Given the description of an element on the screen output the (x, y) to click on. 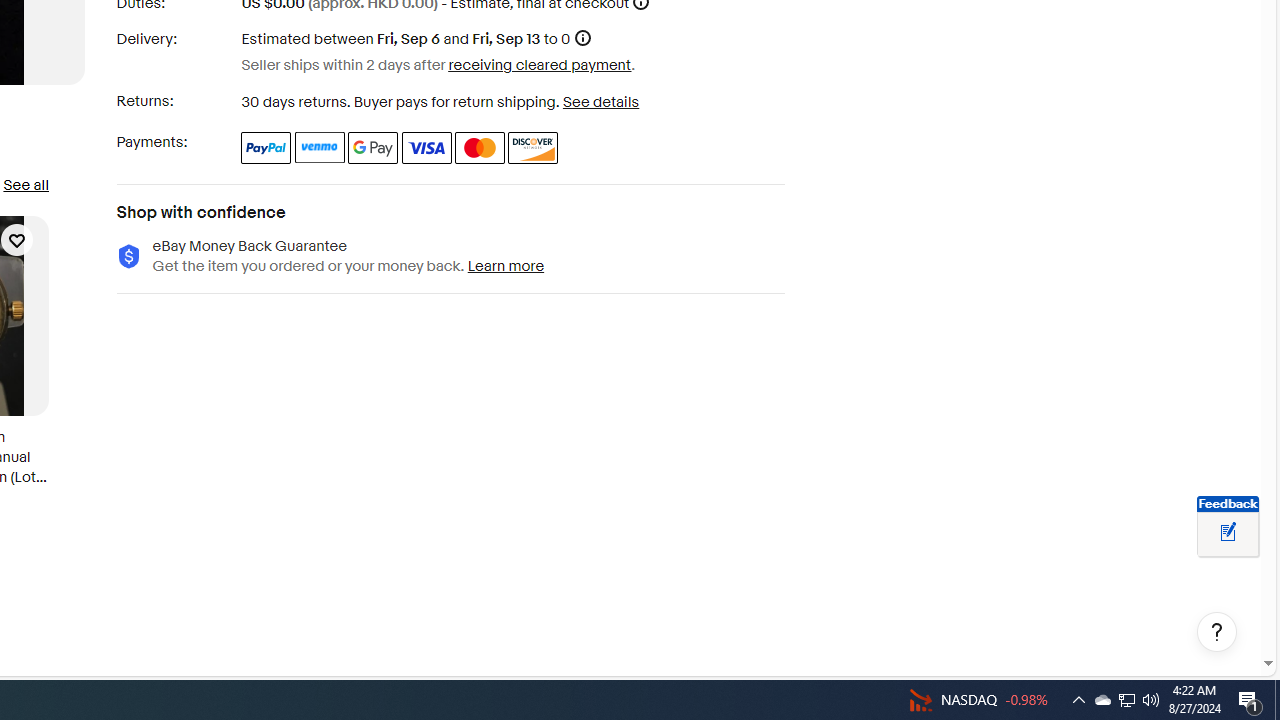
Google Pay (373, 147)
See all (25, 184)
Venmo (319, 147)
Visa (425, 147)
Help, opens dialogs (1217, 632)
receiving cleared payment (540, 64)
PayPal (265, 147)
See details - for more information about returns (600, 102)
Master Card (479, 147)
Leave feedback about your eBay ViewItem experience (1227, 533)
